Given the description of an element on the screen output the (x, y) to click on. 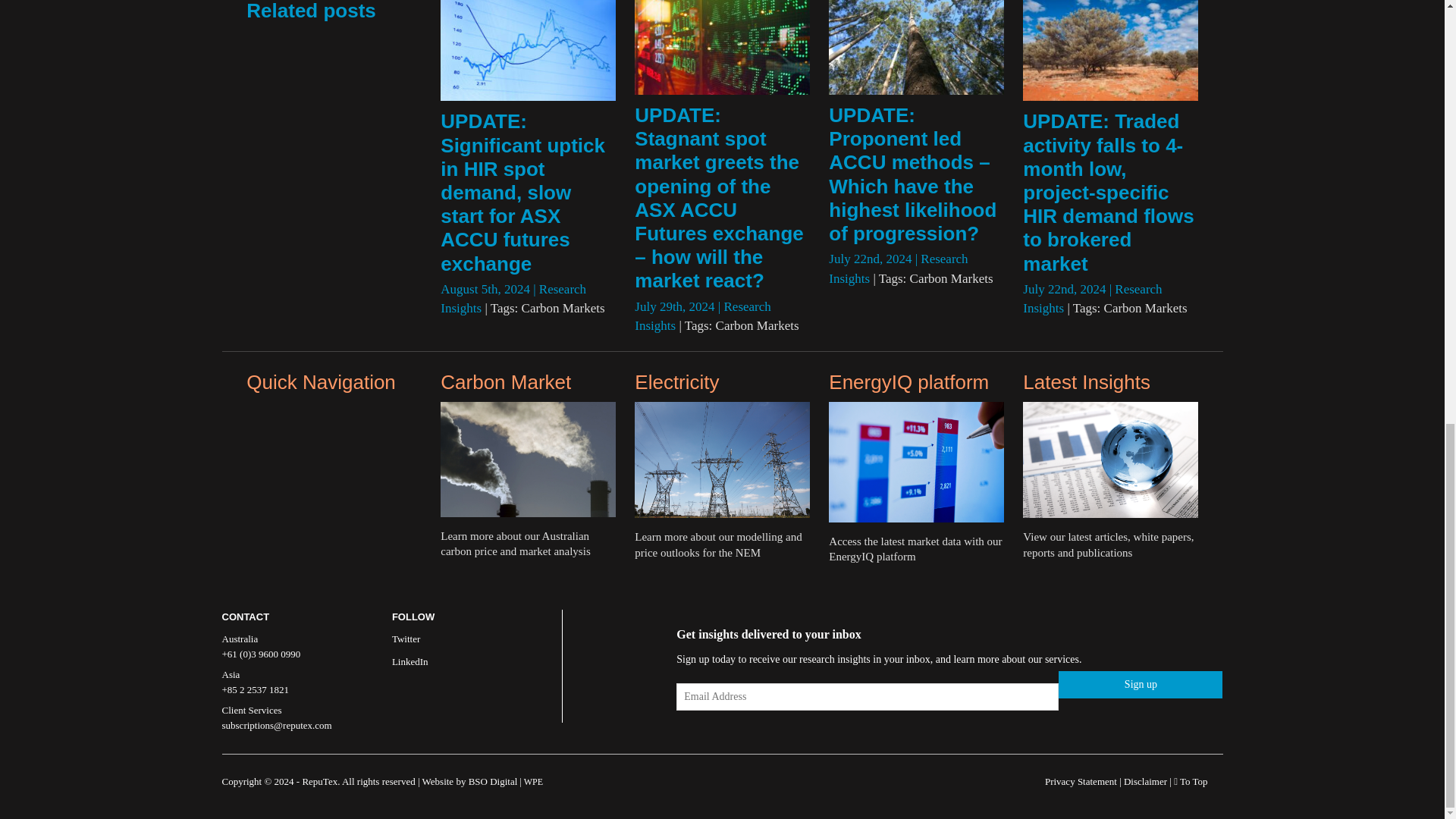
Sign up (1140, 684)
